Given the description of an element on the screen output the (x, y) to click on. 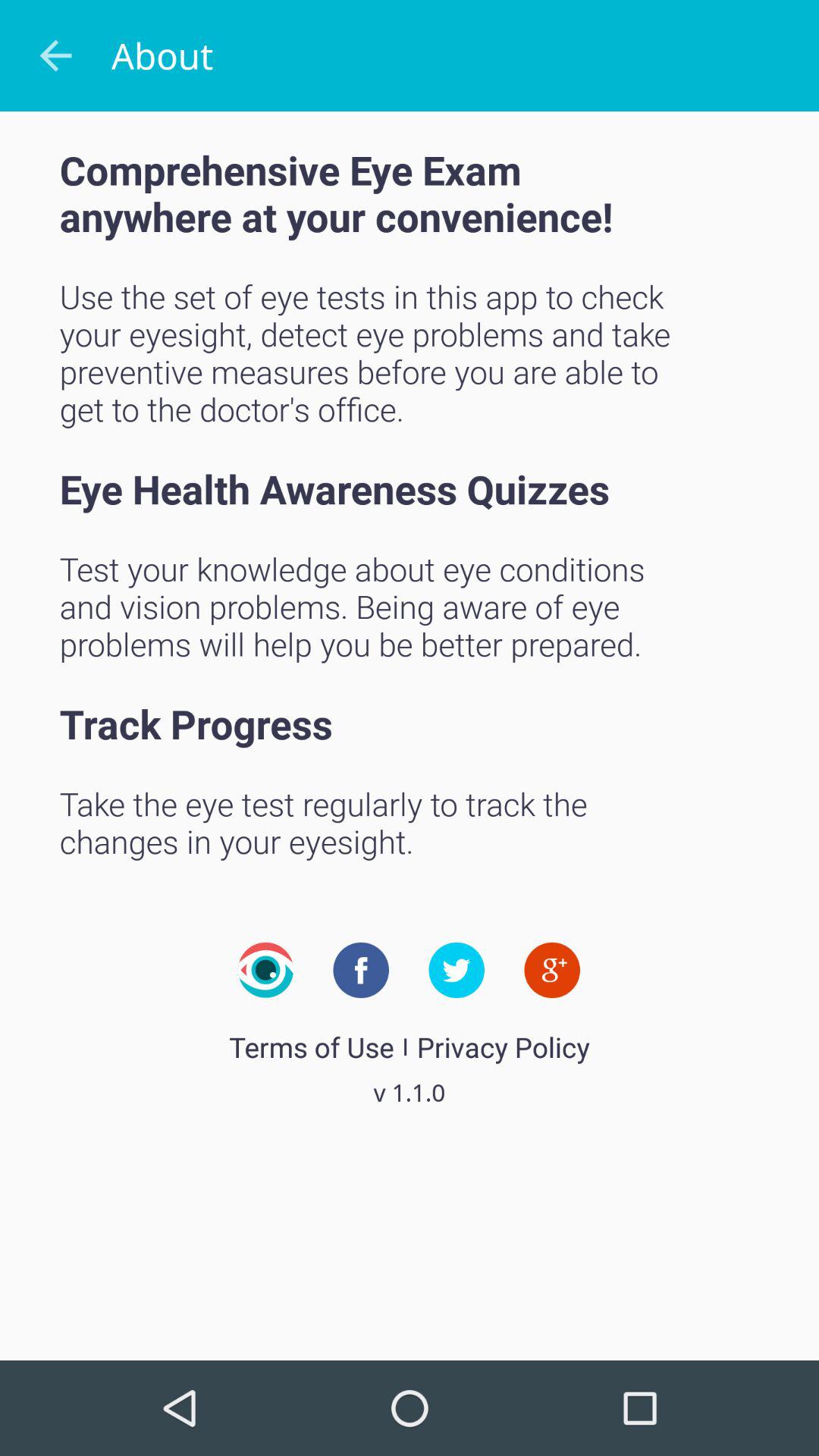
share on facebook (361, 970)
